Given the description of an element on the screen output the (x, y) to click on. 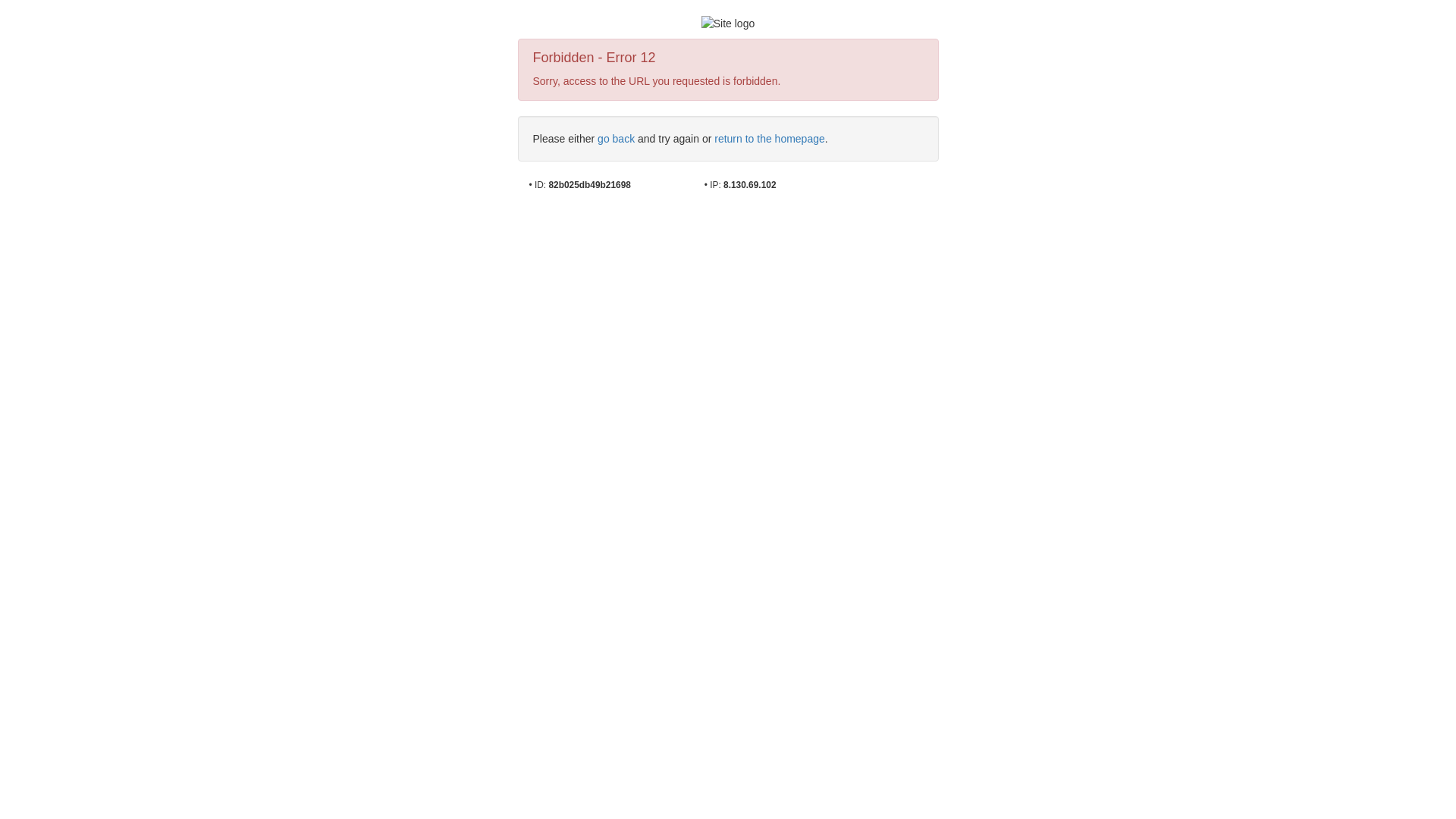
return to the homepage Element type: text (769, 138)
go back Element type: text (615, 138)
